Given the description of an element on the screen output the (x, y) to click on. 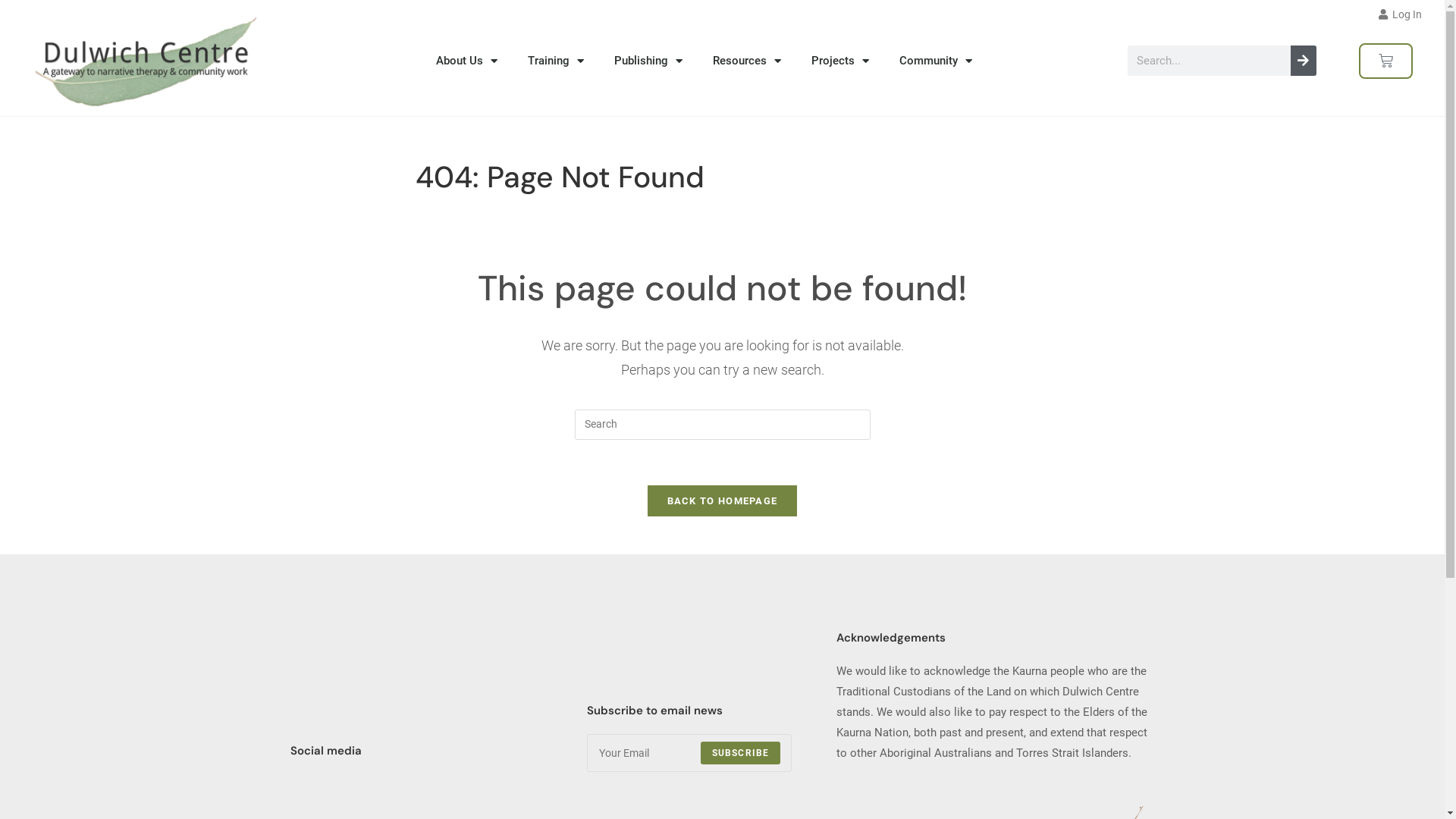
About Us Element type: text (466, 60)
SUBSCRIBE Element type: text (740, 752)
Community Element type: text (935, 60)
Projects Element type: text (840, 60)
Resources Element type: text (746, 60)
Training Element type: text (555, 60)
BACK TO HOMEPAGE Element type: text (722, 500)
Publishing Element type: text (648, 60)
